Given the description of an element on the screen output the (x, y) to click on. 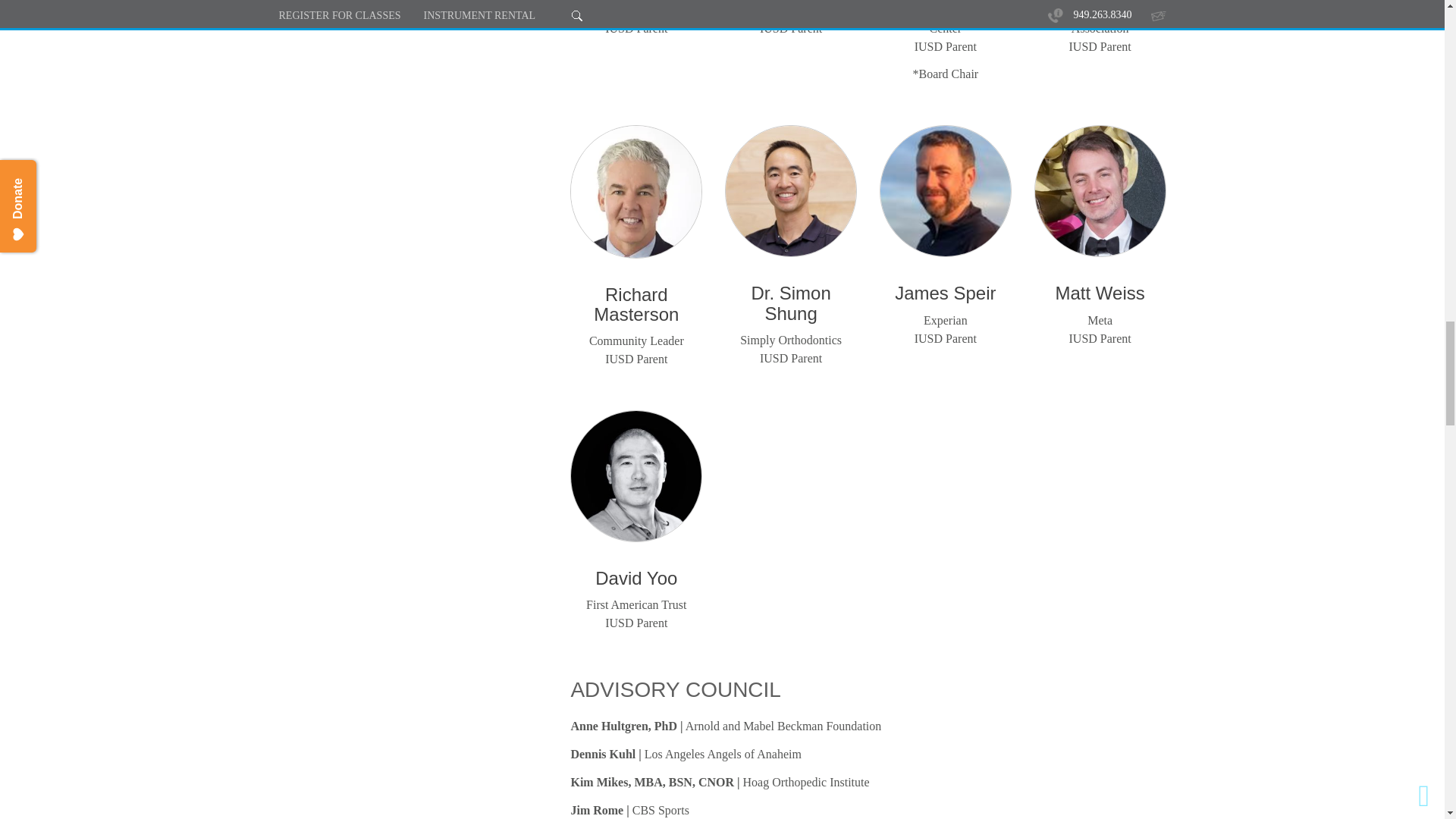
Simon Shung square (790, 191)
masterson (635, 191)
David Yoo picture (635, 476)
matt weiss 2 (1100, 191)
